Given the description of an element on the screen output the (x, y) to click on. 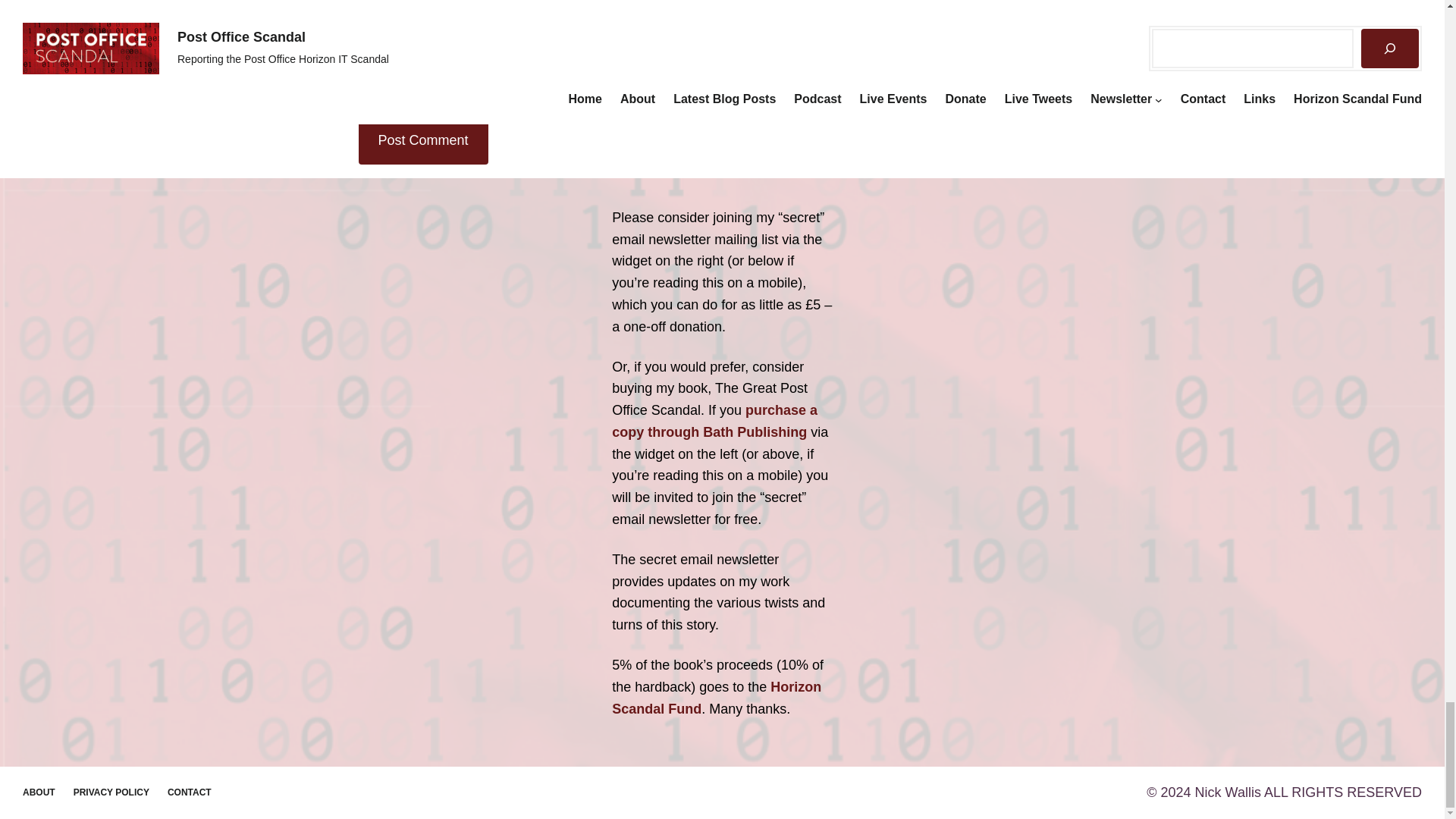
Post Comment (422, 140)
yes (363, 94)
